Given the description of an element on the screen output the (x, y) to click on. 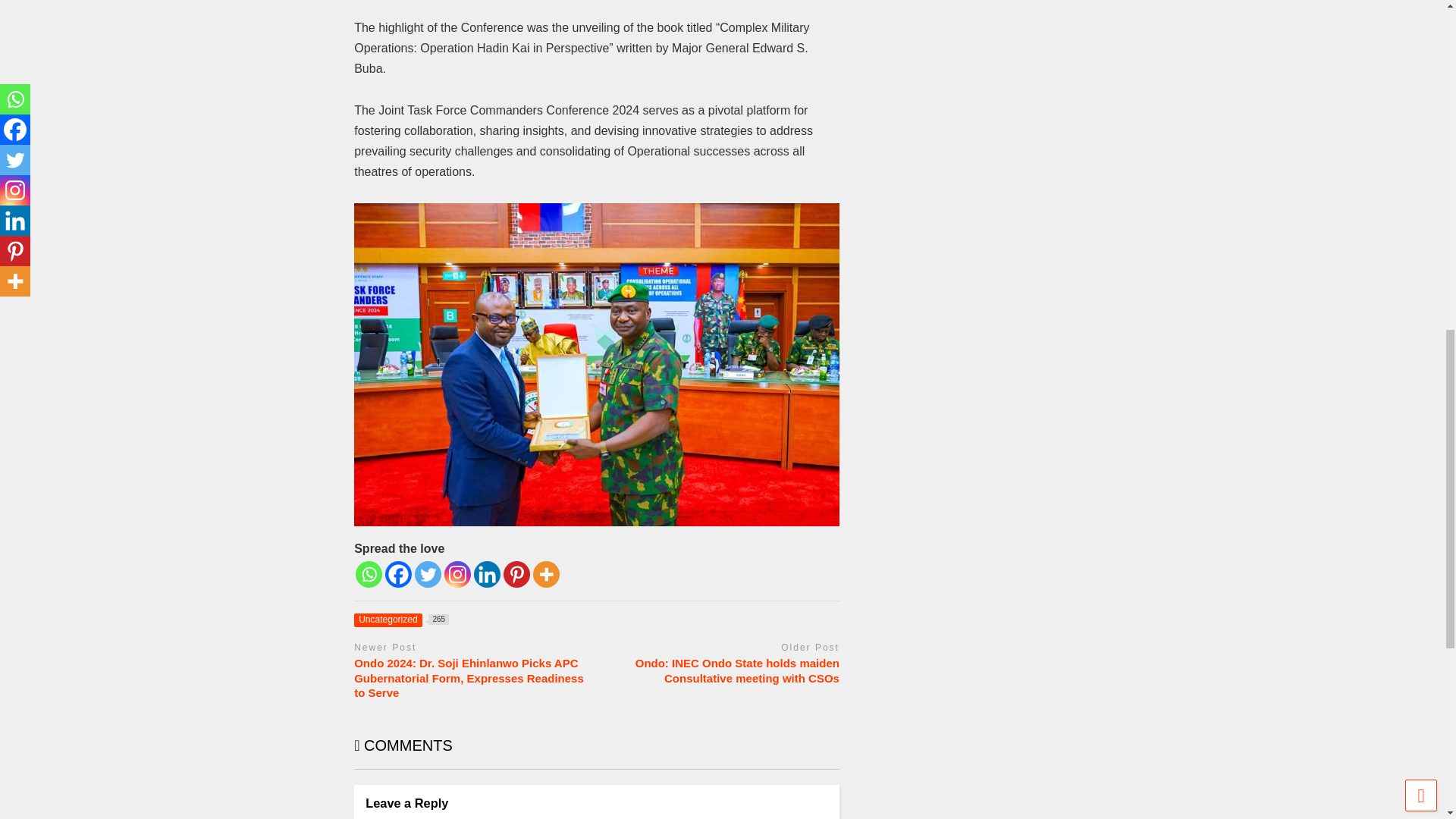
Twitter (427, 574)
Pinterest (516, 574)
Whatsapp (400, 619)
Linkedin (368, 574)
Facebook (487, 574)
Instagram (398, 574)
More (457, 574)
